Given the description of an element on the screen output the (x, y) to click on. 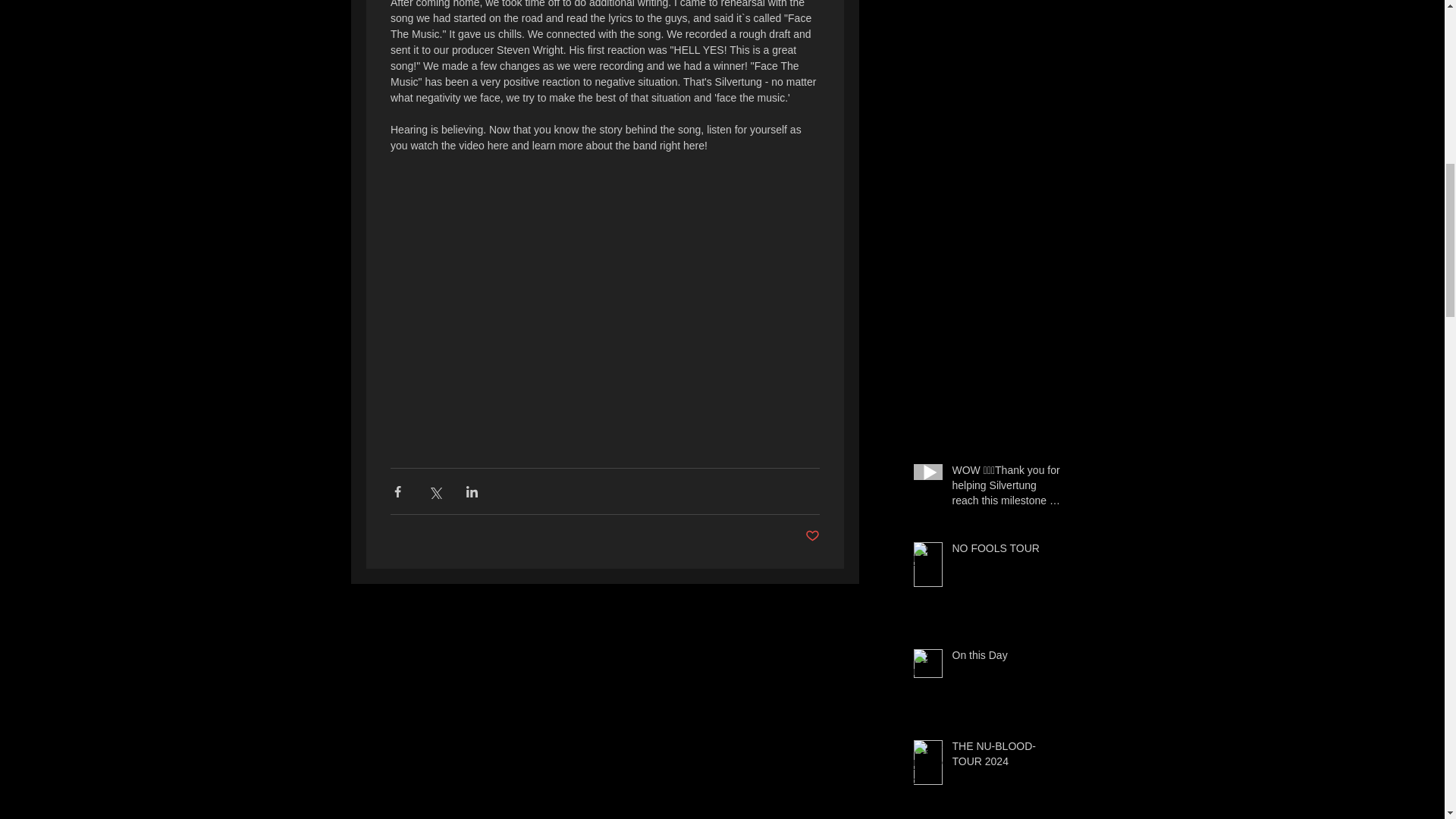
NO FOOLS TOUR (1006, 551)
On this Day (1006, 658)
Post not marked as liked (812, 536)
THE NU-BLOOD-TOUR 2024 (1006, 756)
